Given the description of an element on the screen output the (x, y) to click on. 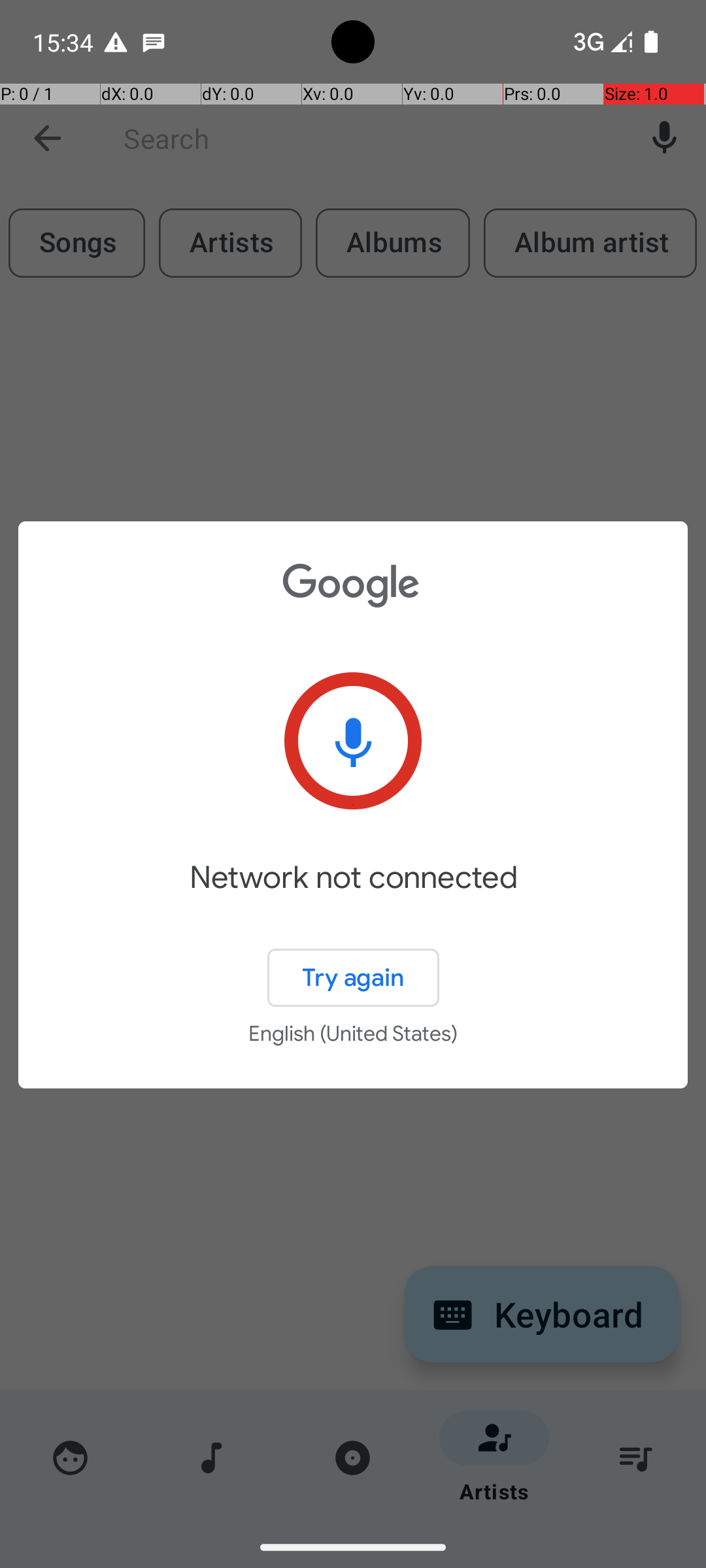
Network not connected Element type: android.widget.TextView (352, 895)
Try again Element type: android.widget.Button (353, 977)
